Given the description of an element on the screen output the (x, y) to click on. 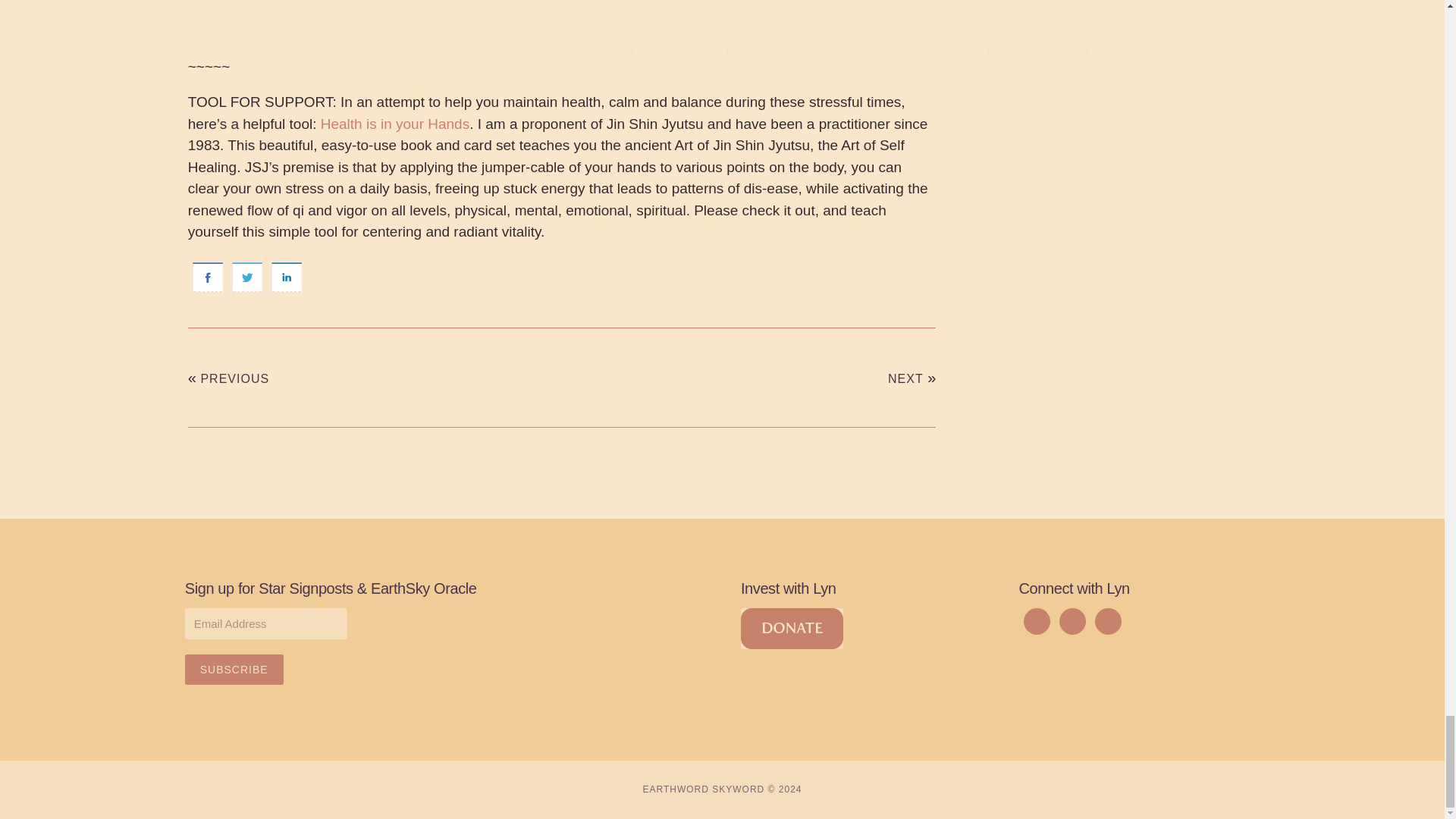
facebook (207, 277)
Subscribe (233, 669)
PayPal - The safer, easier way to pay online! (792, 628)
Subscribe (233, 669)
Health is in your Hands (394, 123)
PREVIOUS (234, 378)
twitter (246, 277)
linkedin (285, 277)
NEXT (905, 378)
